Given the description of an element on the screen output the (x, y) to click on. 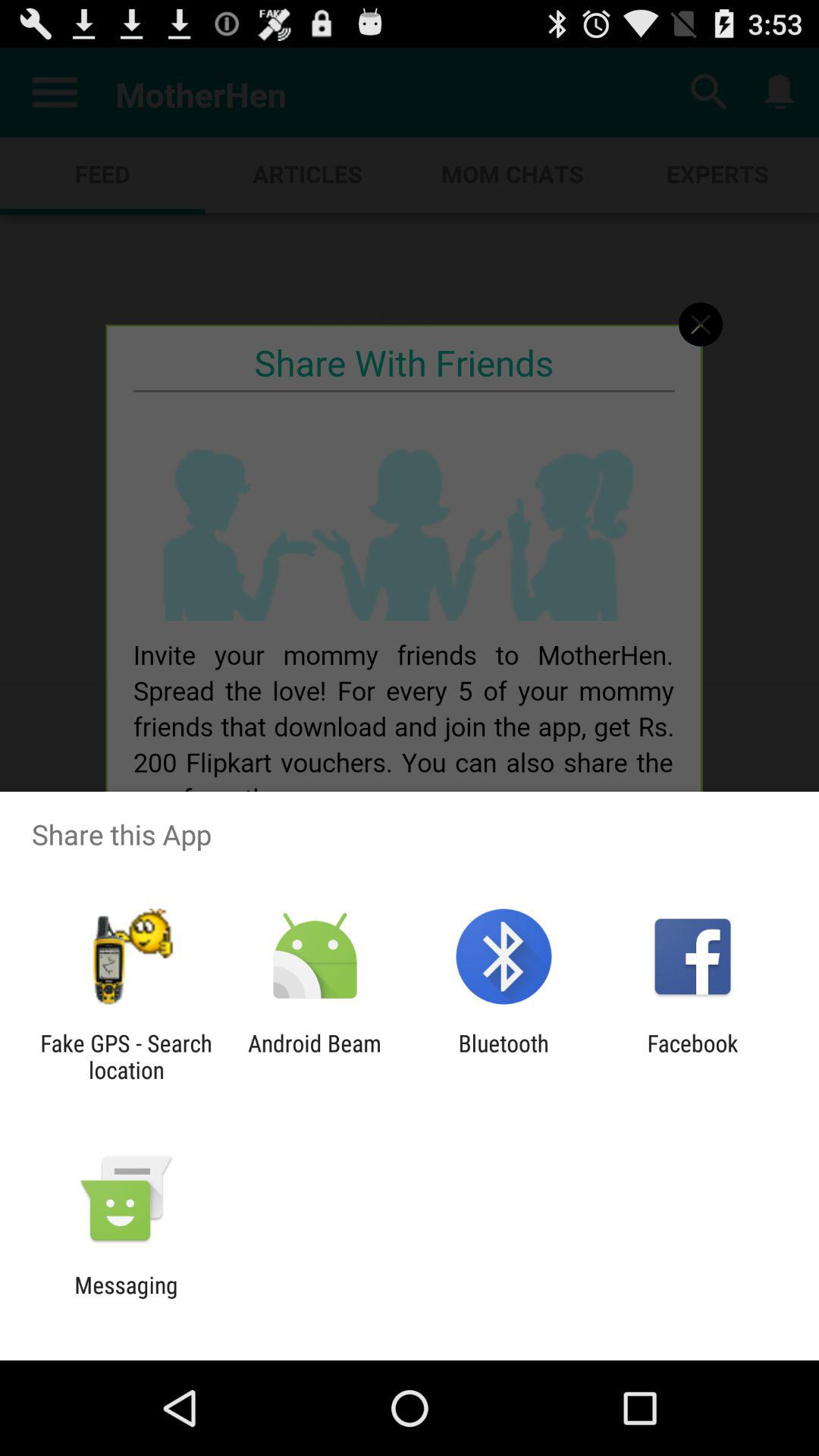
turn on messaging (126, 1298)
